Given the description of an element on the screen output the (x, y) to click on. 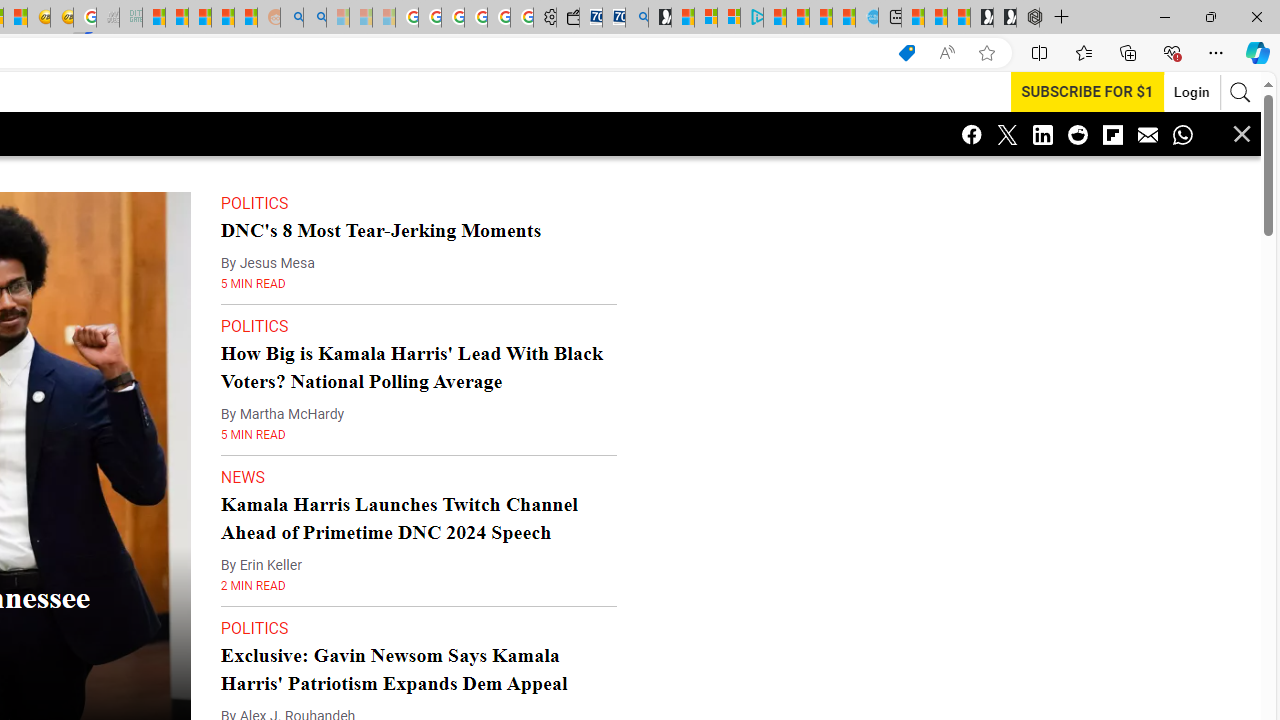
Class: icon-whatsapp (1182, 133)
Class: icon-reddit (1077, 133)
NEWS (243, 477)
